Given the description of an element on the screen output the (x, y) to click on. 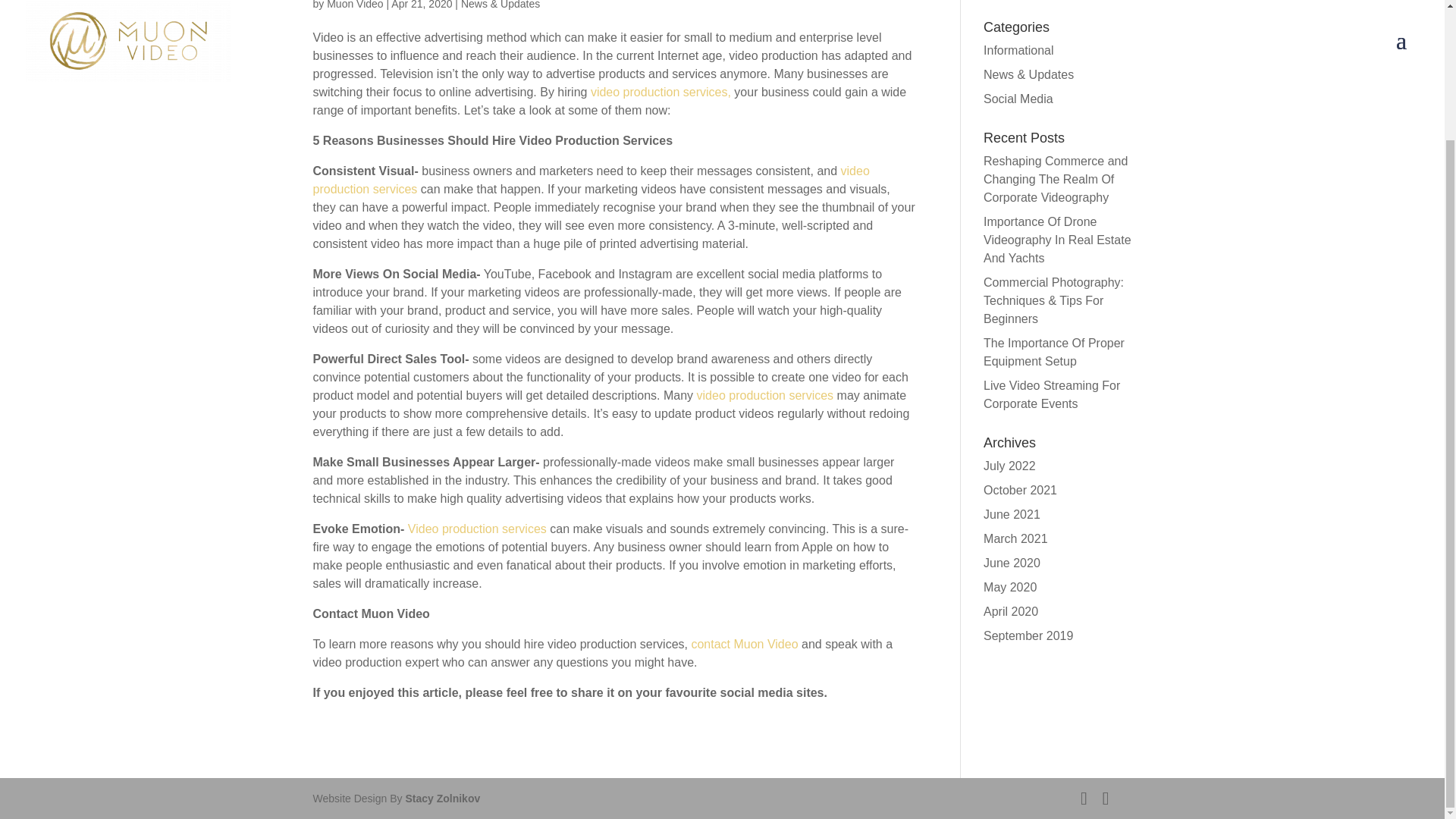
April 2020 (1011, 611)
September 2019 (1028, 635)
Posts by Muon Video (354, 4)
October 2021 (1020, 490)
video production services, (660, 91)
Live Video Streaming For Corporate Events (1051, 394)
May 2020 (1010, 586)
Muon Video (354, 4)
Informational (1019, 50)
Importance Of Drone Videography In Real Estate And Yachts (1057, 239)
March 2021 (1016, 538)
The Importance Of Proper Equipment Setup (1054, 351)
video production services (591, 179)
Stacy Zolnikov (442, 798)
